Given the description of an element on the screen output the (x, y) to click on. 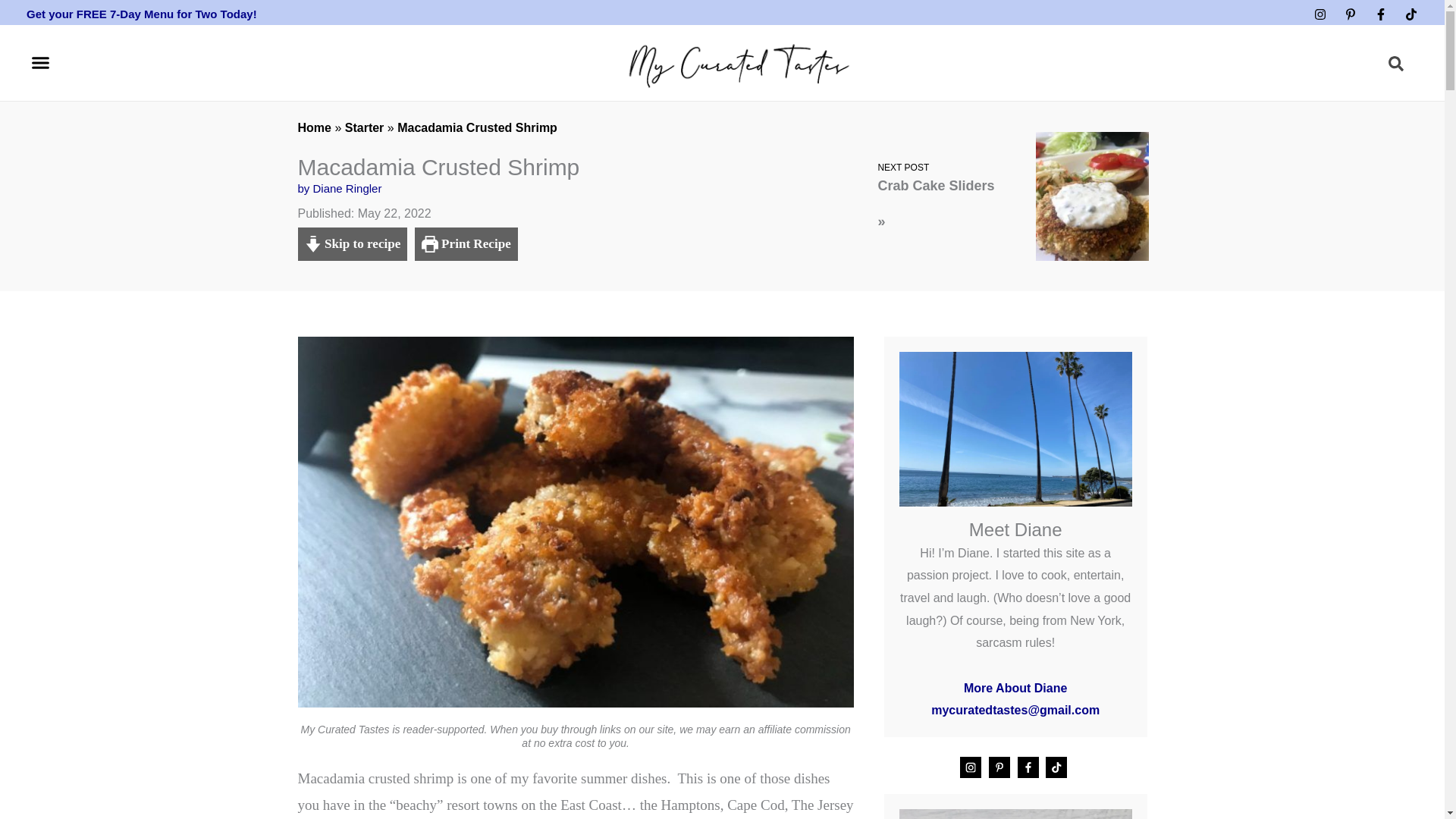
Facebook-f (1380, 14)
Starter (364, 128)
Macadamia Crusted Shrimp (477, 128)
Get your FREE 7-Day Menu for Two Today! (141, 13)
Home (313, 128)
Skip to recipe (352, 244)
Pinterest-p (1349, 14)
Instagram (1320, 14)
Tiktok (1410, 14)
